Given the description of an element on the screen output the (x, y) to click on. 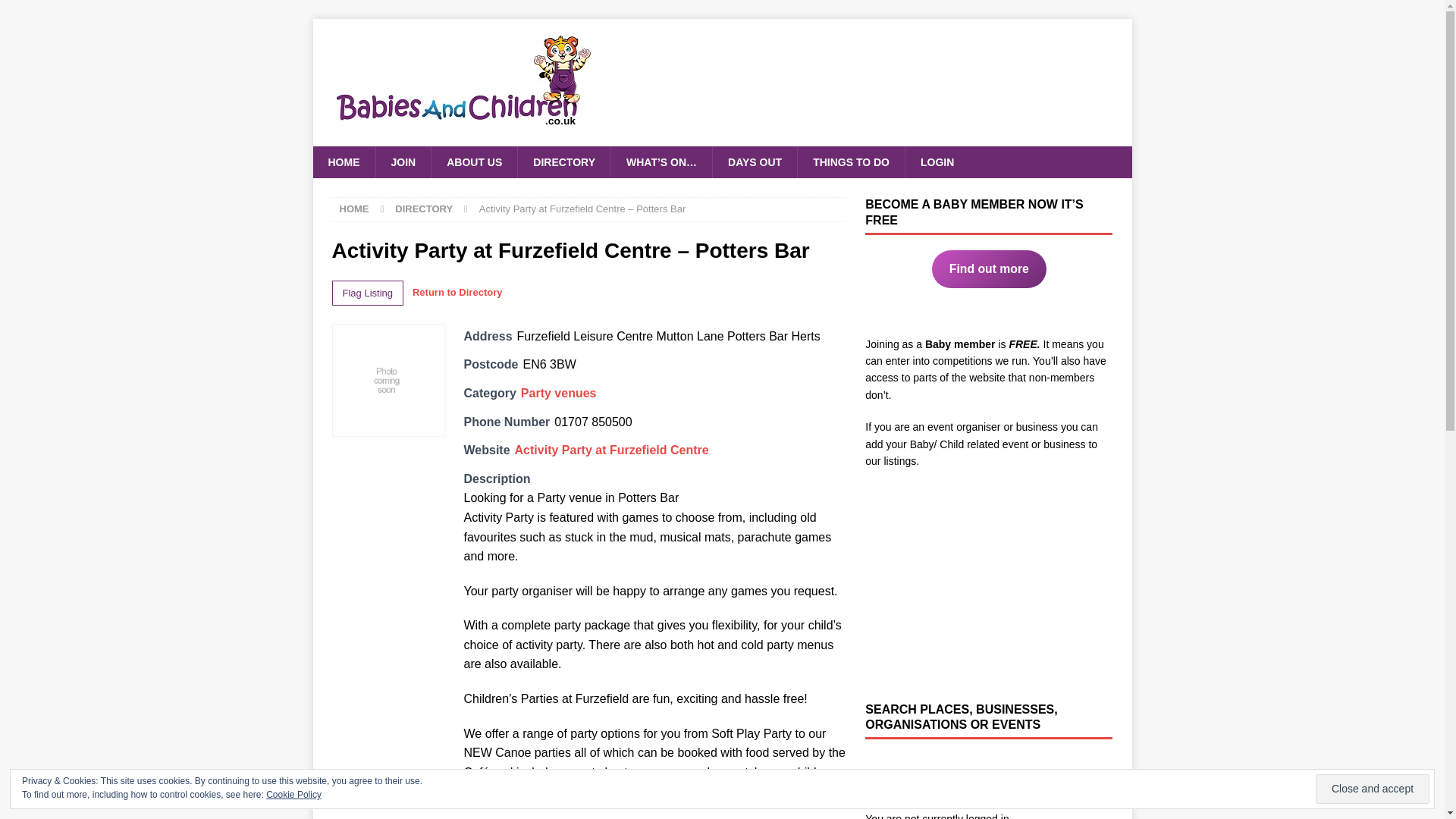
Cookie Policy (293, 794)
Return to Directory (457, 292)
LOGIN (936, 162)
THINGS TO DO (850, 162)
Flag Listing (367, 292)
JOIN (402, 162)
Find out more (988, 269)
Close and accept (1372, 788)
Activity Party at Furzefield Centre (612, 449)
Activity Party at Furzefield Centre (612, 449)
